Given the description of an element on the screen output the (x, y) to click on. 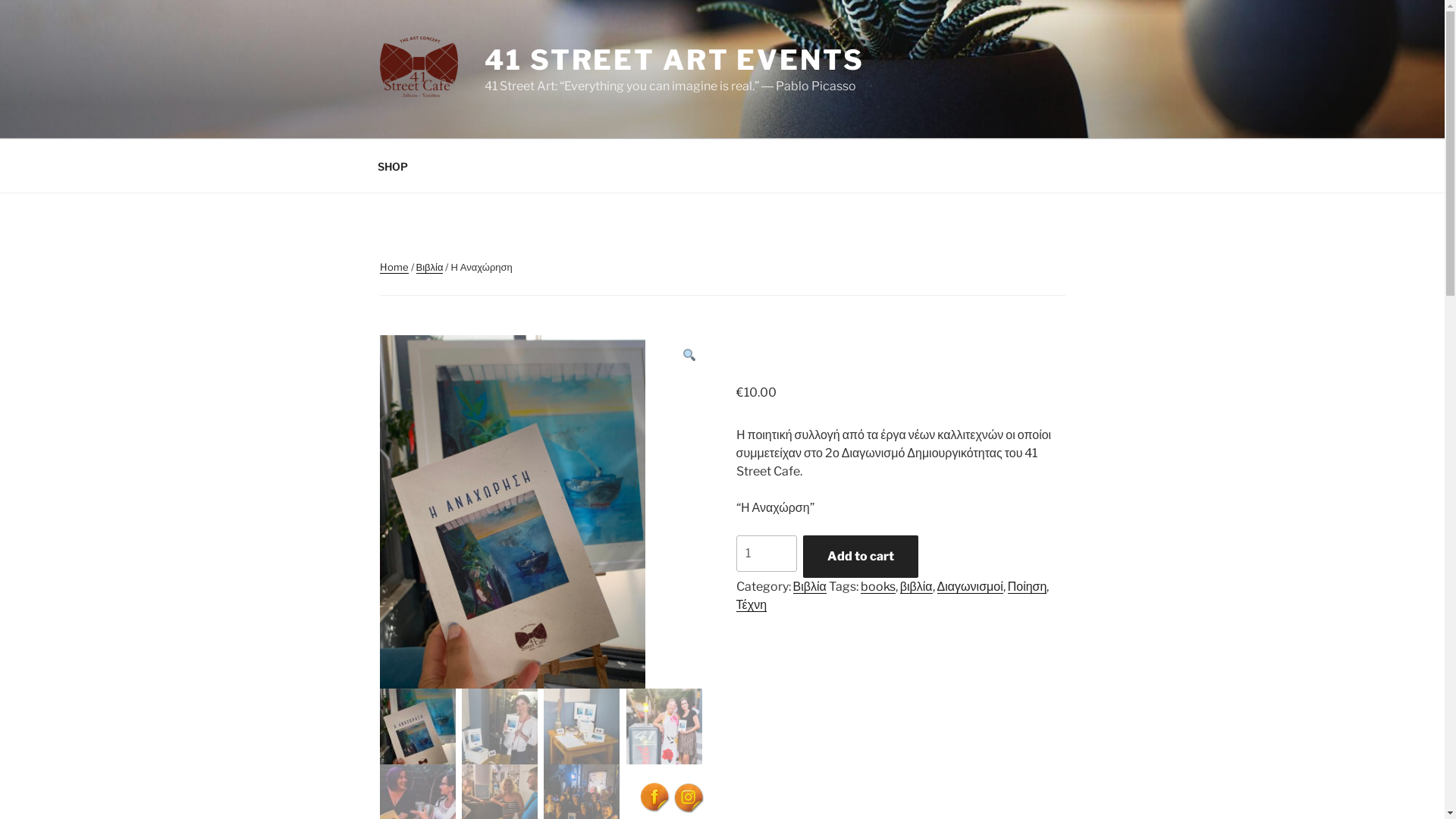
Facebook Element type: hover (655, 797)
Skip to content Element type: text (0, 0)
41 STREET ART EVENTS Element type: text (674, 59)
SHOP Element type: text (392, 165)
Add to cart Element type: text (860, 556)
books Element type: text (877, 586)
book 2 contest Element type: hover (511, 512)
Home Element type: text (393, 266)
book 2 presentation Element type: hover (840, 455)
